Given the description of an element on the screen output the (x, y) to click on. 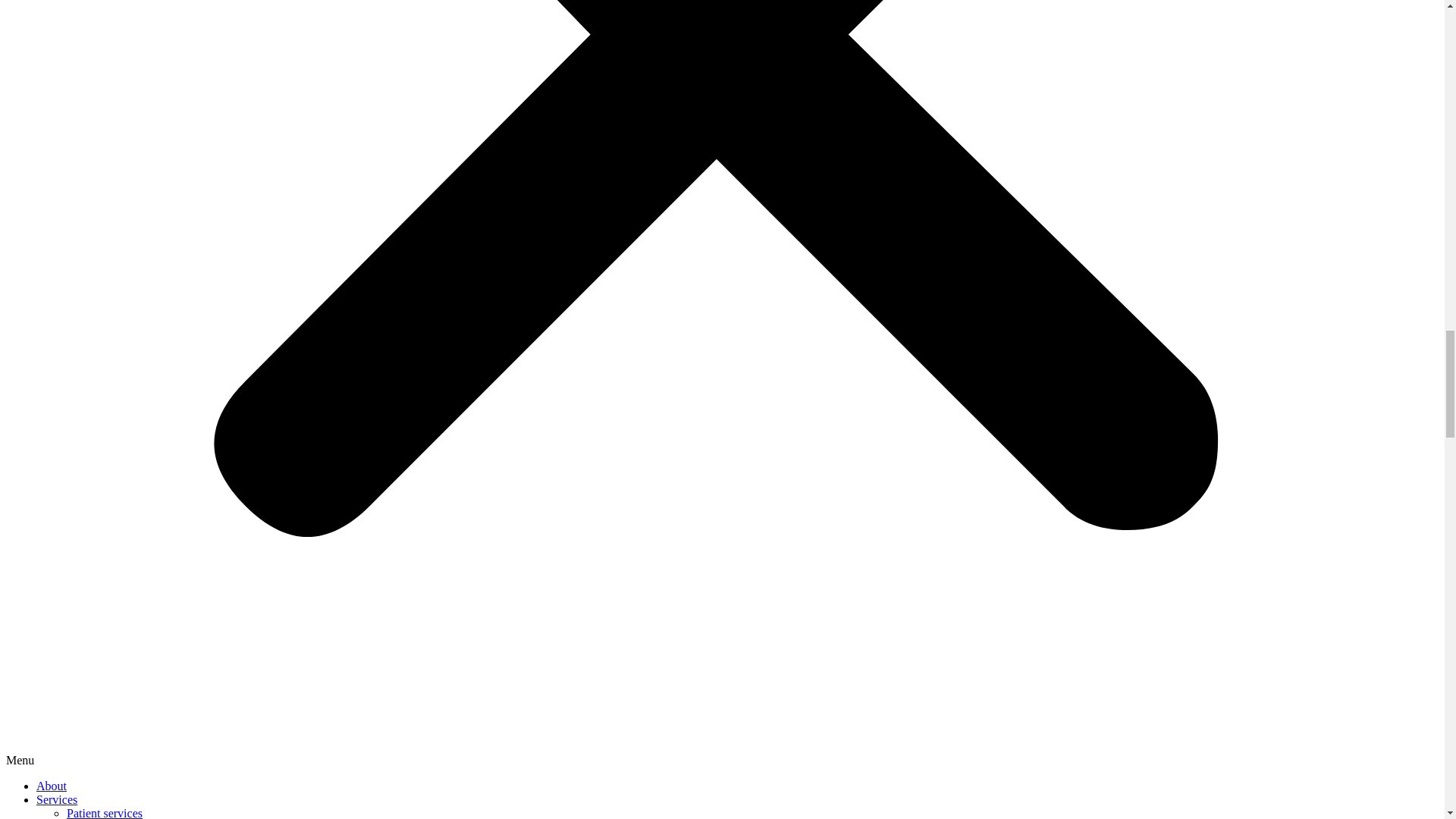
Services (56, 799)
Patient services (104, 812)
About (51, 785)
